Given the description of an element on the screen output the (x, y) to click on. 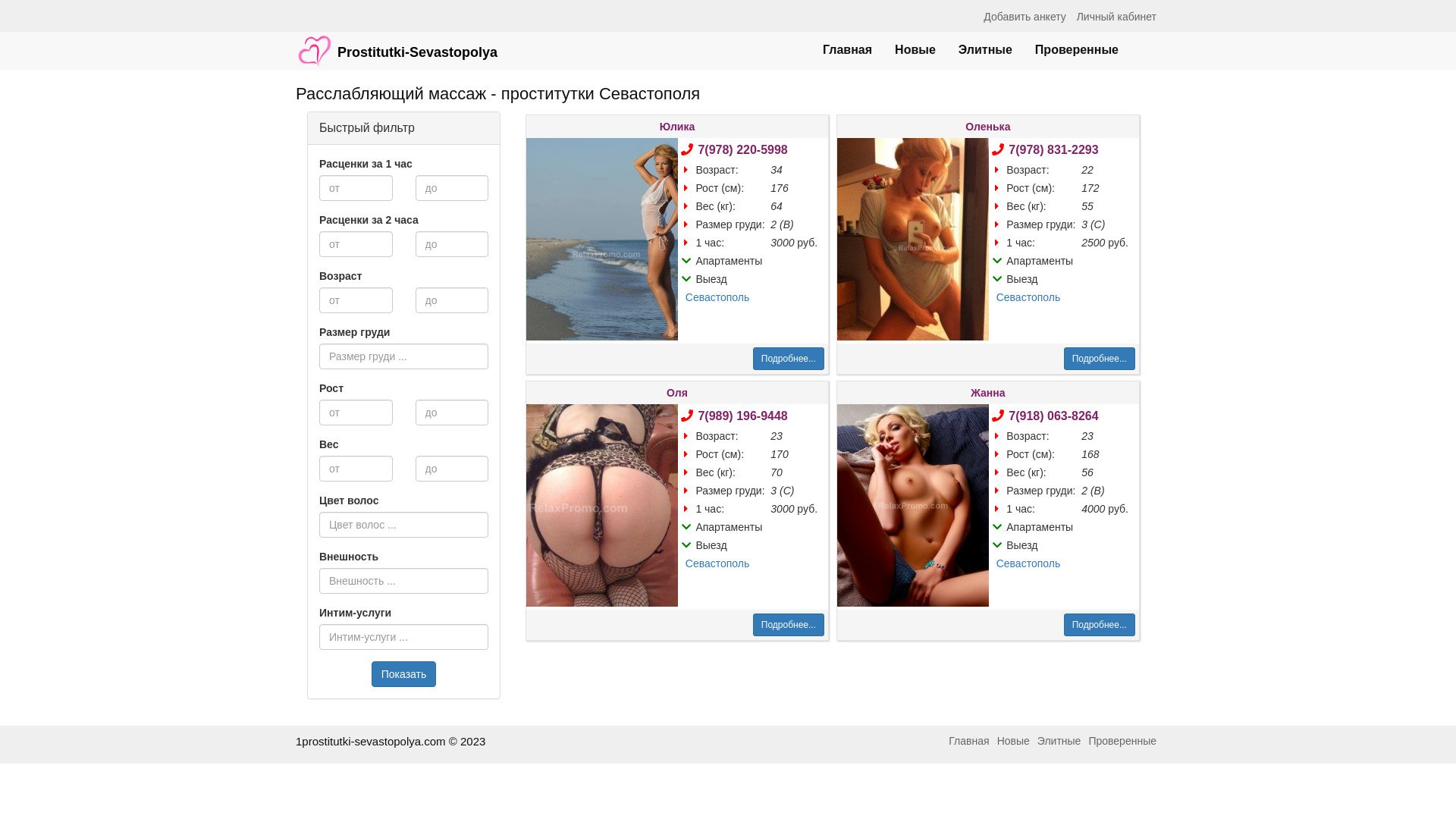
Prostitutki-Sevastopolya Element type: text (396, 43)
